Given the description of an element on the screen output the (x, y) to click on. 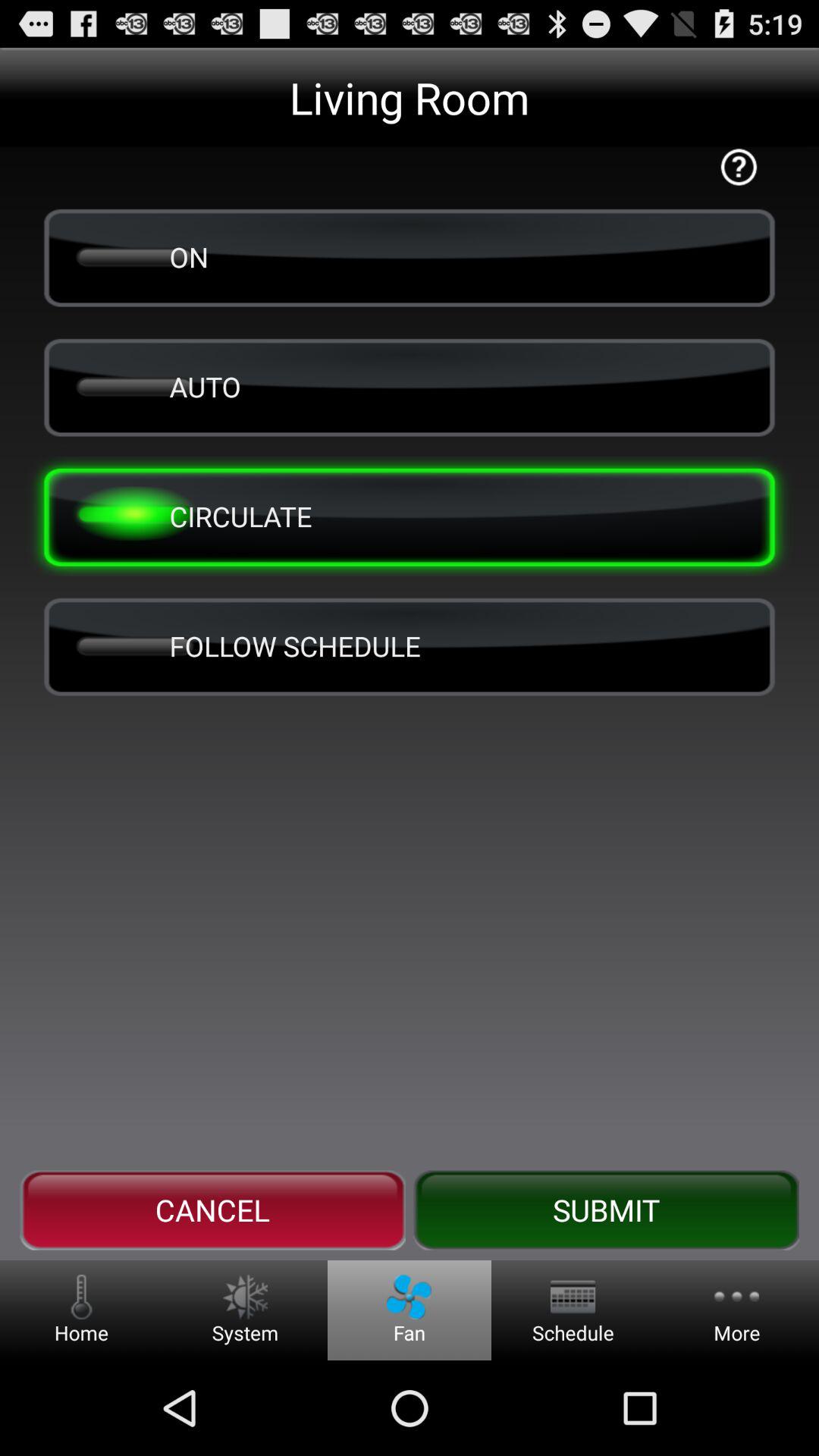
select icon below the auto item (409, 516)
